Given the description of an element on the screen output the (x, y) to click on. 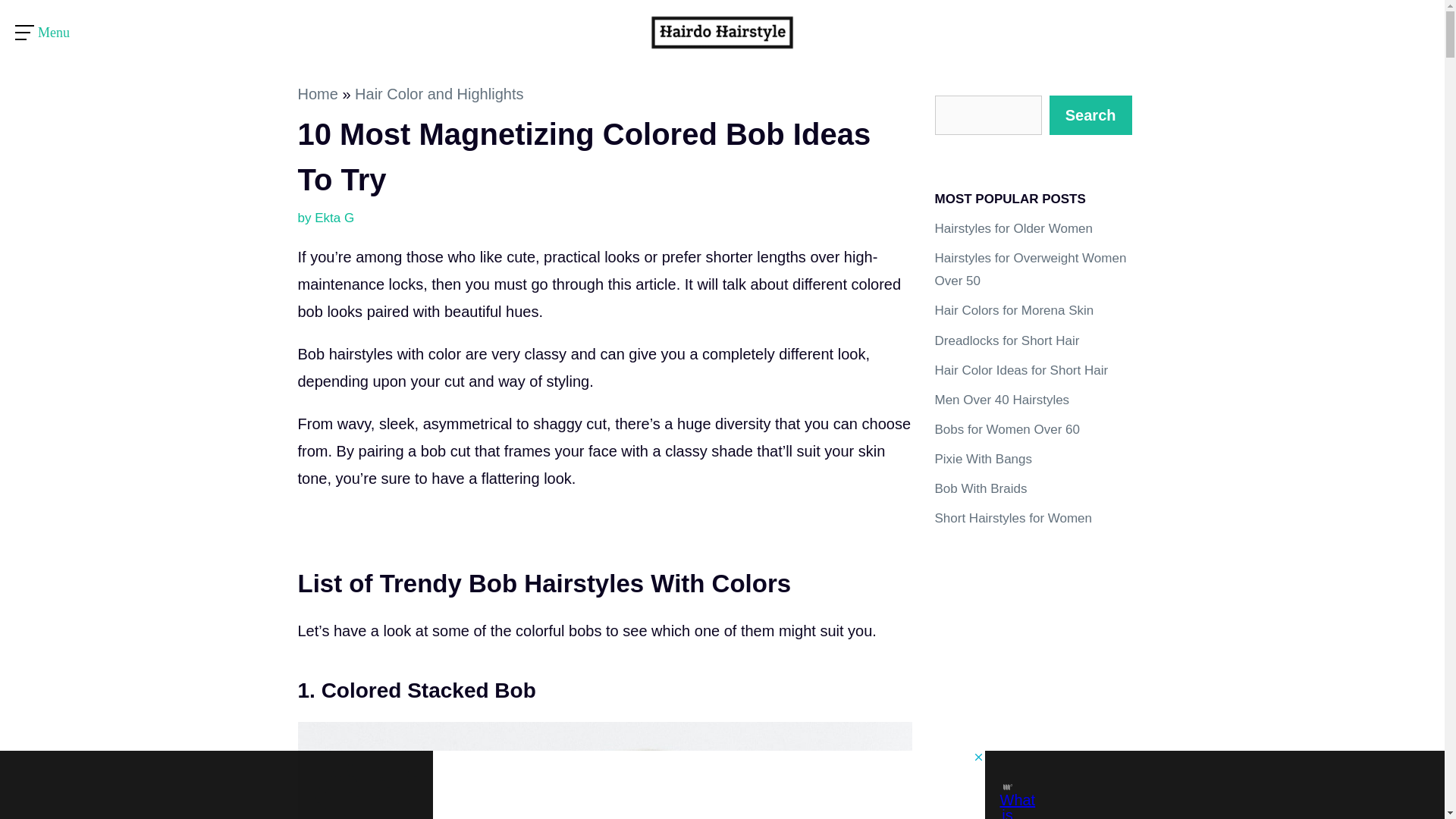
Search (1090, 115)
Hairstyles for Older Women (1013, 228)
Men Over 40 Hairstyles (1001, 400)
Pixie With Bangs (983, 459)
Hair Color and Highlights (438, 93)
Ekta G (333, 217)
Hairstyles for Overweight Women Over 50 (1029, 269)
Home (317, 93)
Dreadlocks for Short Hair (1006, 340)
3rd party ad content (708, 785)
3rd party ad content (1032, 663)
Hair Colors for Morena Skin (1013, 310)
Bobs for Women Over 60 (1007, 429)
View all posts by Ekta G (333, 217)
Short Hairstyles for Women (1013, 518)
